Given the description of an element on the screen output the (x, y) to click on. 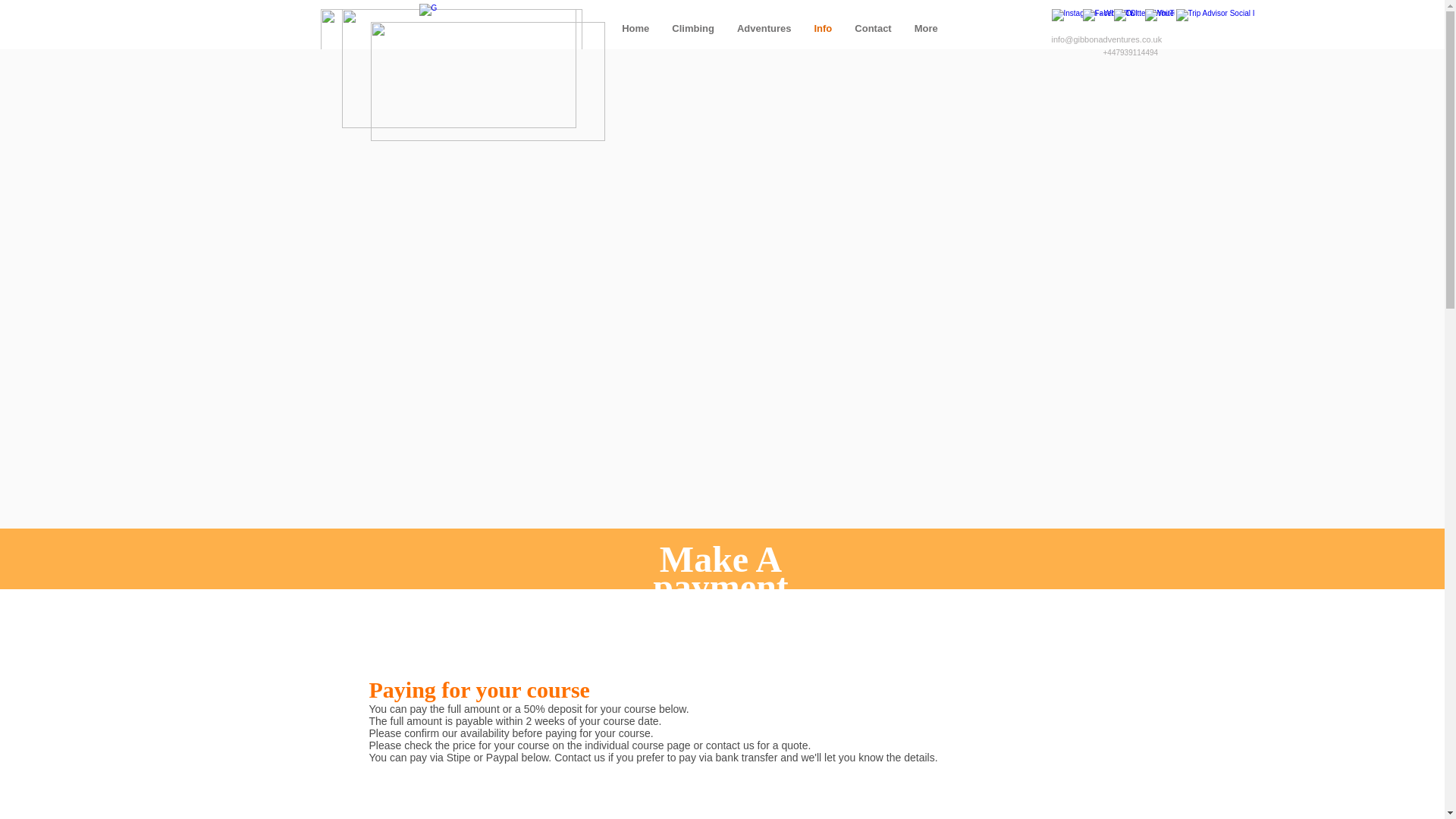
Info (822, 37)
Contact (872, 37)
Climbing (693, 37)
Home (635, 37)
Adventures (764, 37)
